Given the description of an element on the screen output the (x, y) to click on. 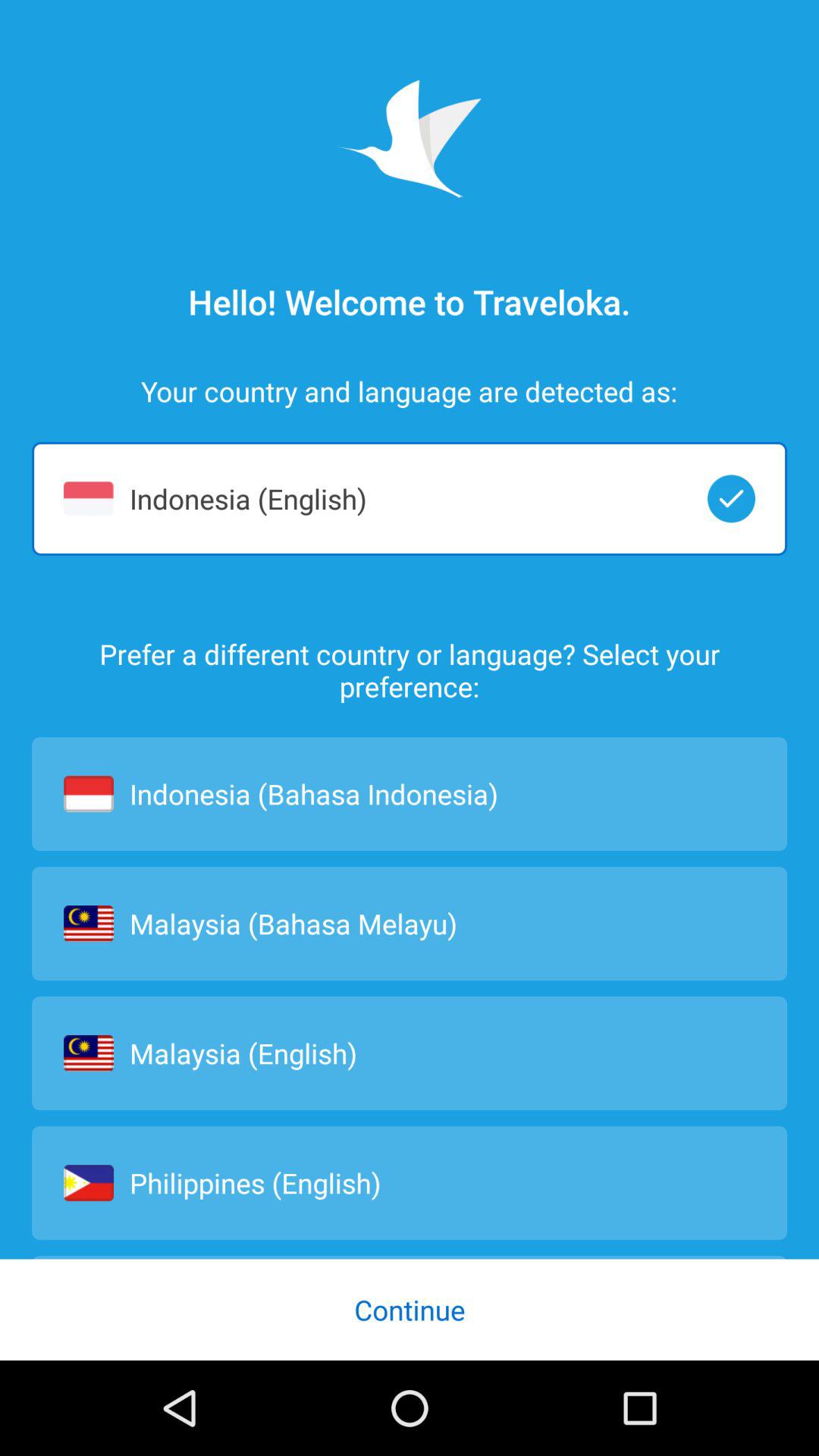
swipe to the continue icon (409, 1309)
